Given the description of an element on the screen output the (x, y) to click on. 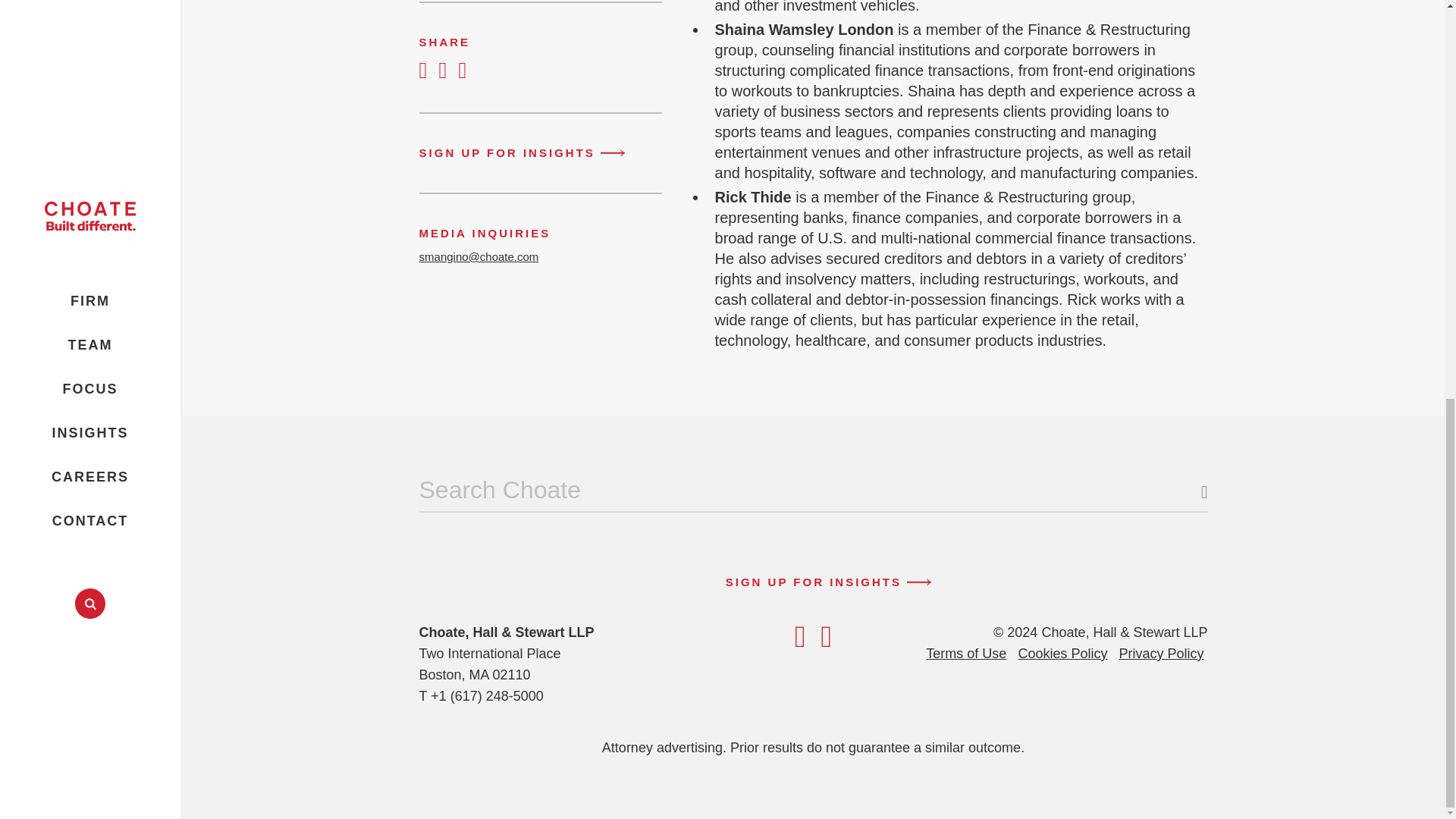
SIGN UP FOR INSIGHTS (534, 152)
Cookies Policy (1061, 653)
Privacy Policy (1161, 653)
SIGN UP FOR INSIGHTS (813, 581)
Terms of Use (965, 653)
